Given the description of an element on the screen output the (x, y) to click on. 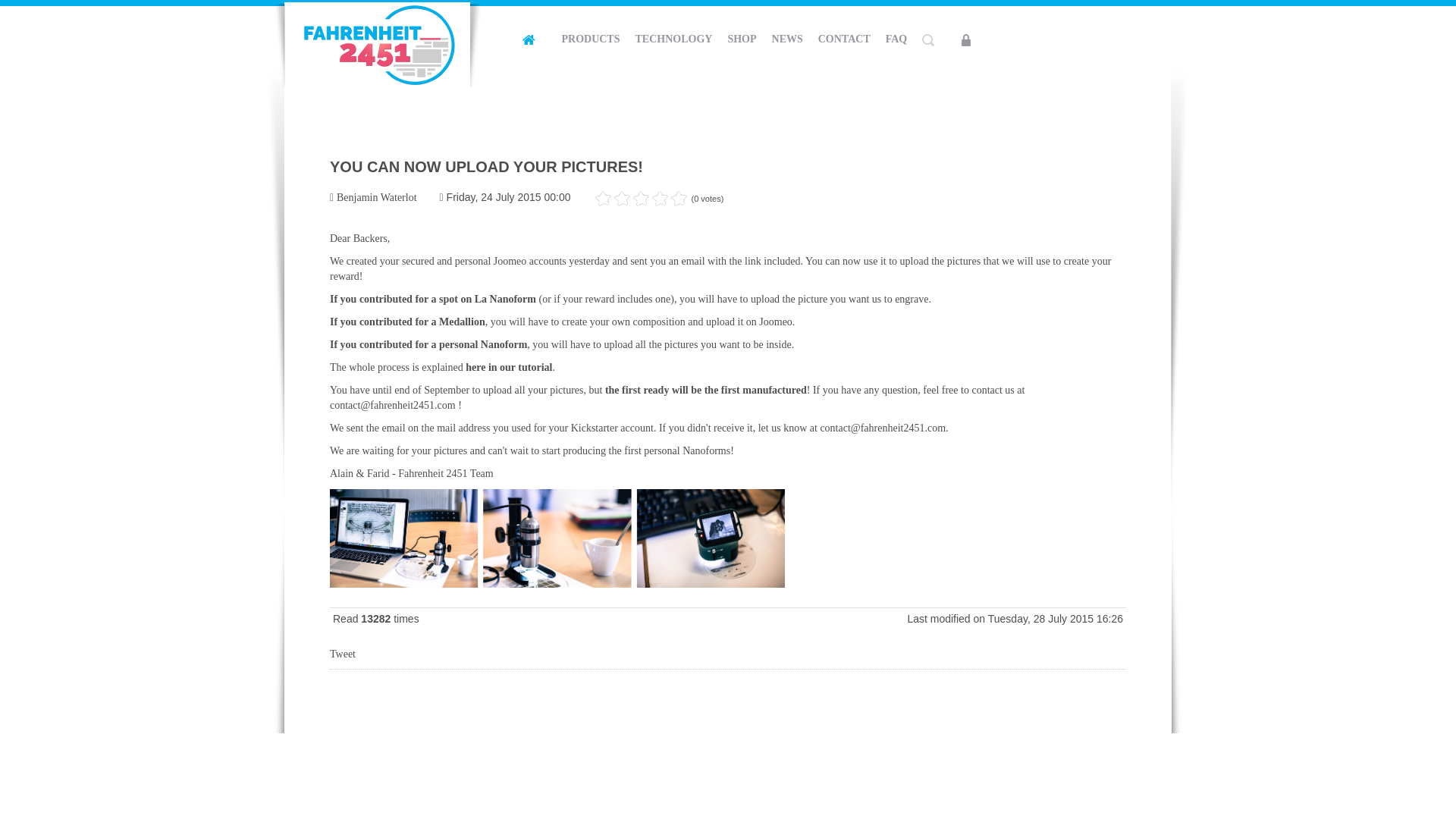
1 (603, 198)
here in our tutorial (508, 367)
5 stars out of 5 (641, 198)
1 star out of 5 (603, 198)
Tweet (342, 654)
FAQ (896, 39)
Benjamin Waterlot (376, 197)
